Given the description of an element on the screen output the (x, y) to click on. 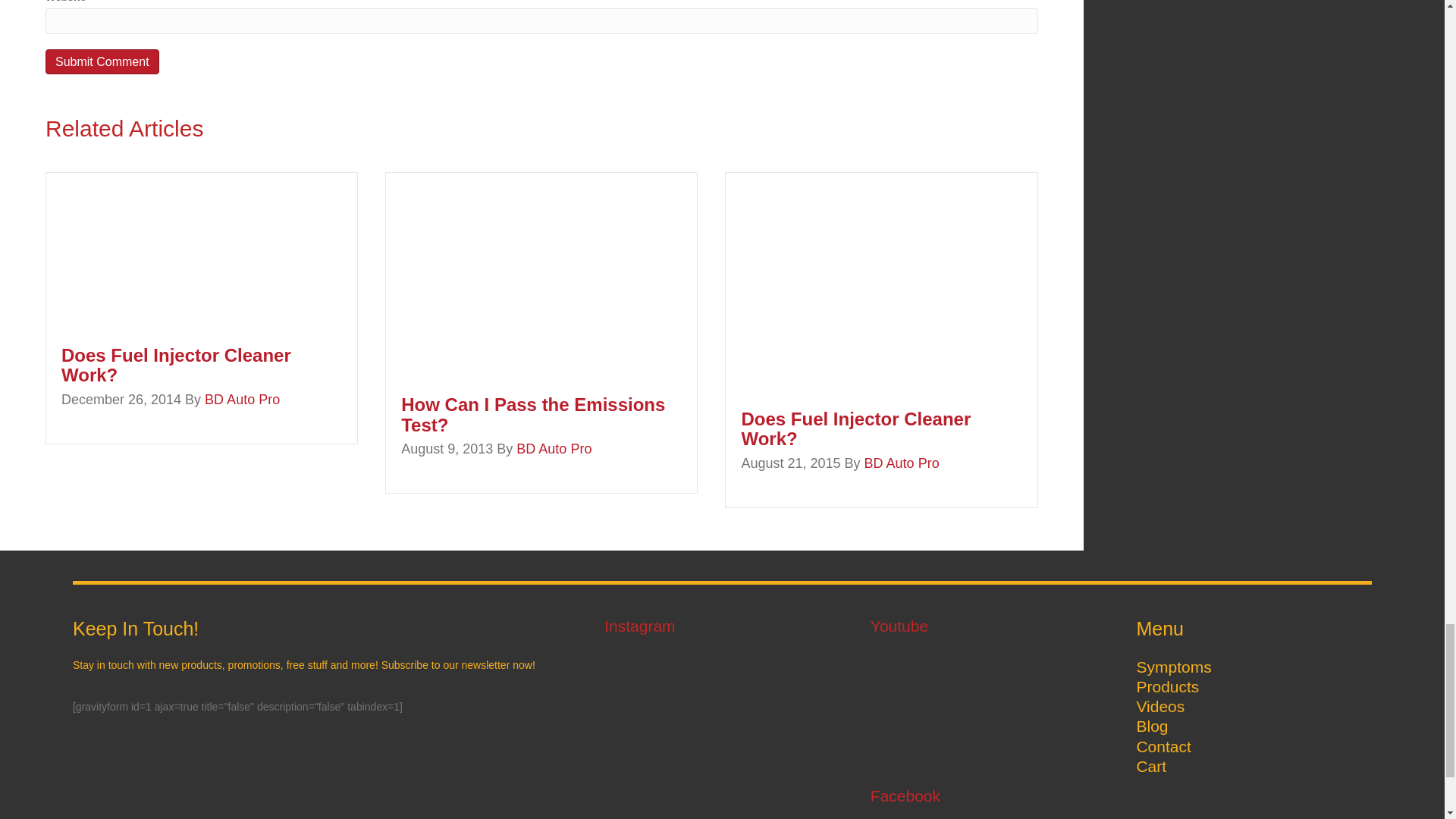
How Can I Pass the Emissions Test? (541, 274)
Does Fuel Injector Cleaner Work? (880, 282)
youtube-footer (979, 705)
Does Fuel Injector Cleaner Work? (176, 364)
Does Fuel Injector Cleaner Work? (159, 250)
Submit Comment (101, 61)
instagram-footer (722, 734)
Does Fuel Injector Cleaner Work? (856, 428)
How Can I Pass the Emissions Test? (533, 413)
